Given the description of an element on the screen output the (x, y) to click on. 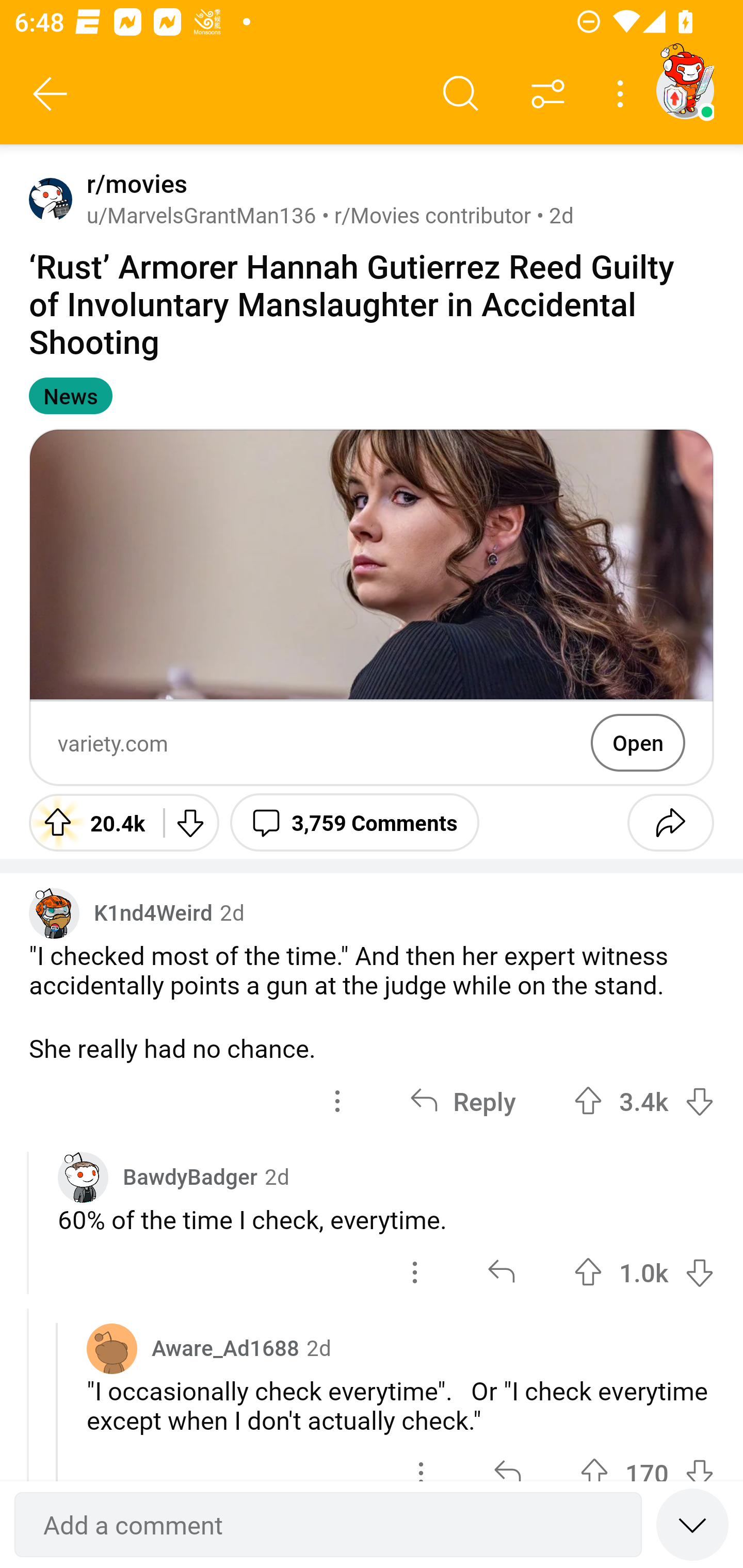
Back (50, 93)
TestAppium002 account (685, 90)
Search comments (460, 93)
Sort comments (547, 93)
More options (623, 93)
r/movies (133, 183)
Avatar (50, 199)
News (70, 395)
Preview Image variety.com Open (371, 606)
Open (637, 742)
Upvote 20.4k (88, 822)
Downvote (189, 822)
3,759 Comments (354, 822)
Share (670, 822)
Custom avatar (53, 912)
options (337, 1100)
Reply (462, 1100)
Upvote 3.4k 3422 votes Downvote (643, 1100)
Custom avatar (82, 1177)
60% of the time I check, everytime. (385, 1218)
options (414, 1272)
Upvote 1.0k 1007 votes Downvote (643, 1272)
Avatar (111, 1348)
Speed read (692, 1524)
Add a comment (327, 1524)
